Given the description of an element on the screen output the (x, y) to click on. 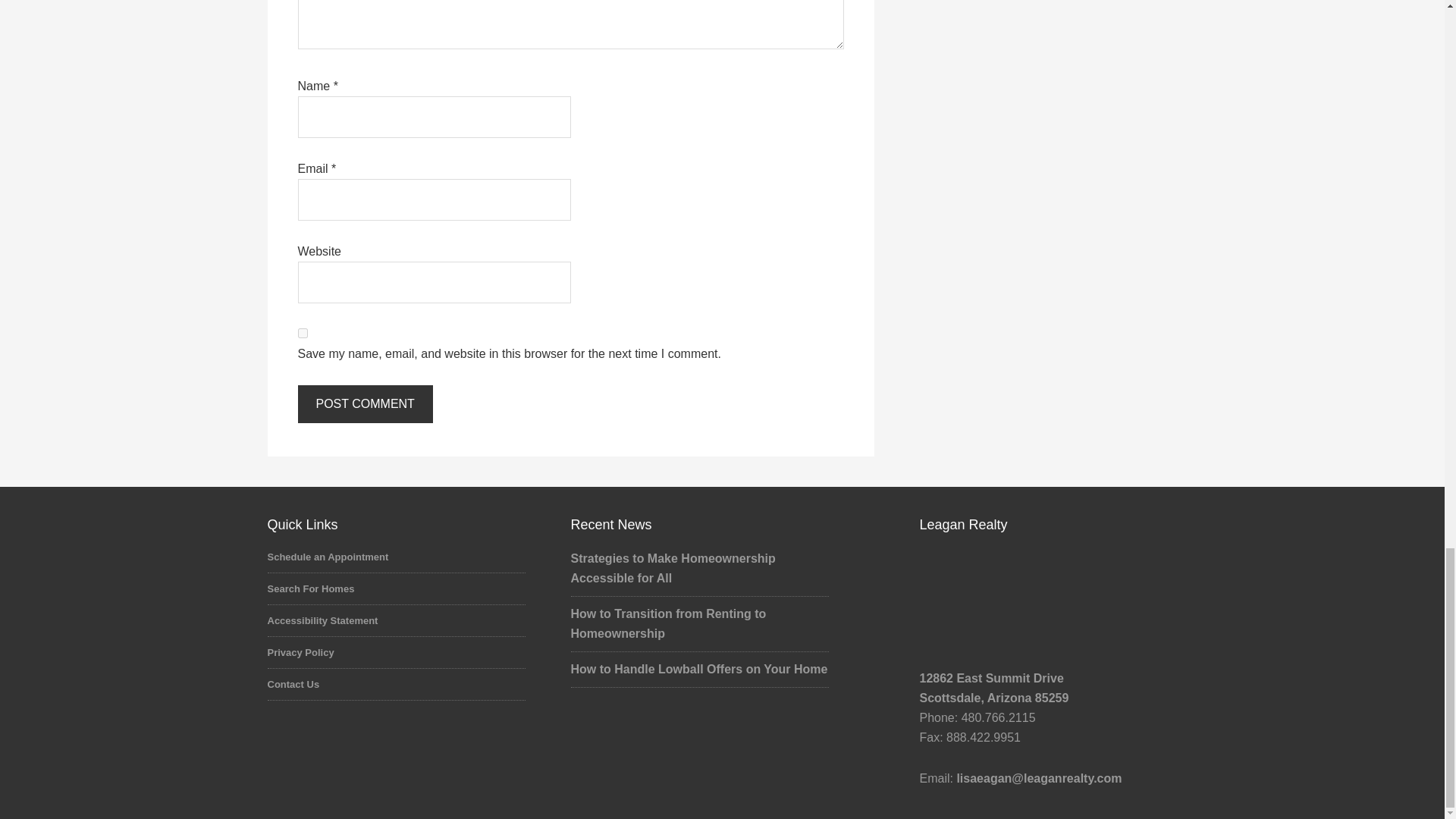
yes (302, 333)
Accessibility Statement (321, 620)
How to Handle Lowball Offers on Your Home (698, 668)
Strategies to Make Homeownership Accessible for All (672, 568)
Contact Us (292, 684)
How to Transition from Renting to Homeownership (667, 623)
Search For Homes (309, 588)
Post Comment (364, 403)
Schedule an Appointment (327, 556)
Post Comment (364, 403)
Privacy Policy (299, 652)
